Given the description of an element on the screen output the (x, y) to click on. 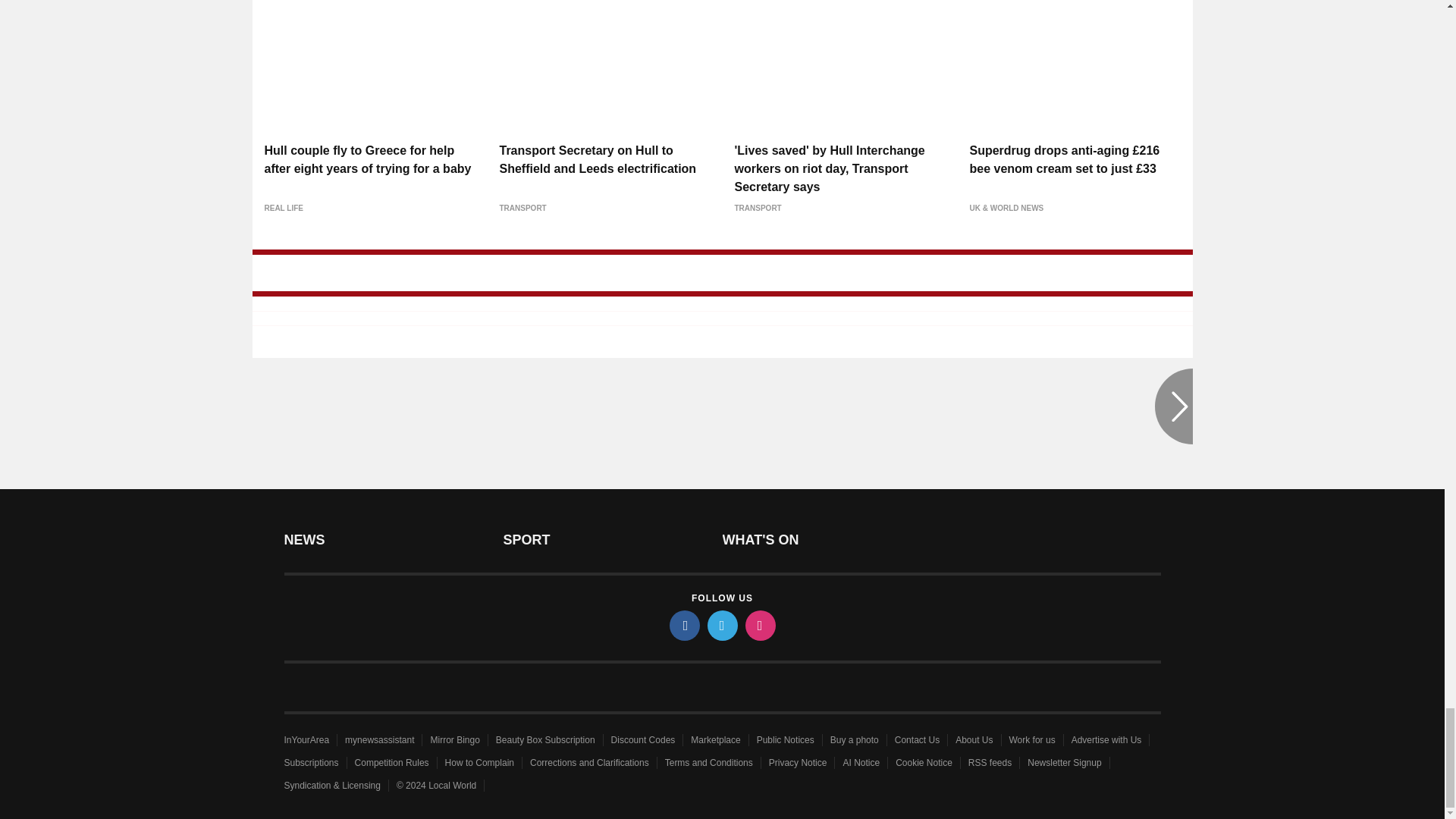
instagram (759, 625)
twitter (721, 625)
facebook (683, 625)
